Given the description of an element on the screen output the (x, y) to click on. 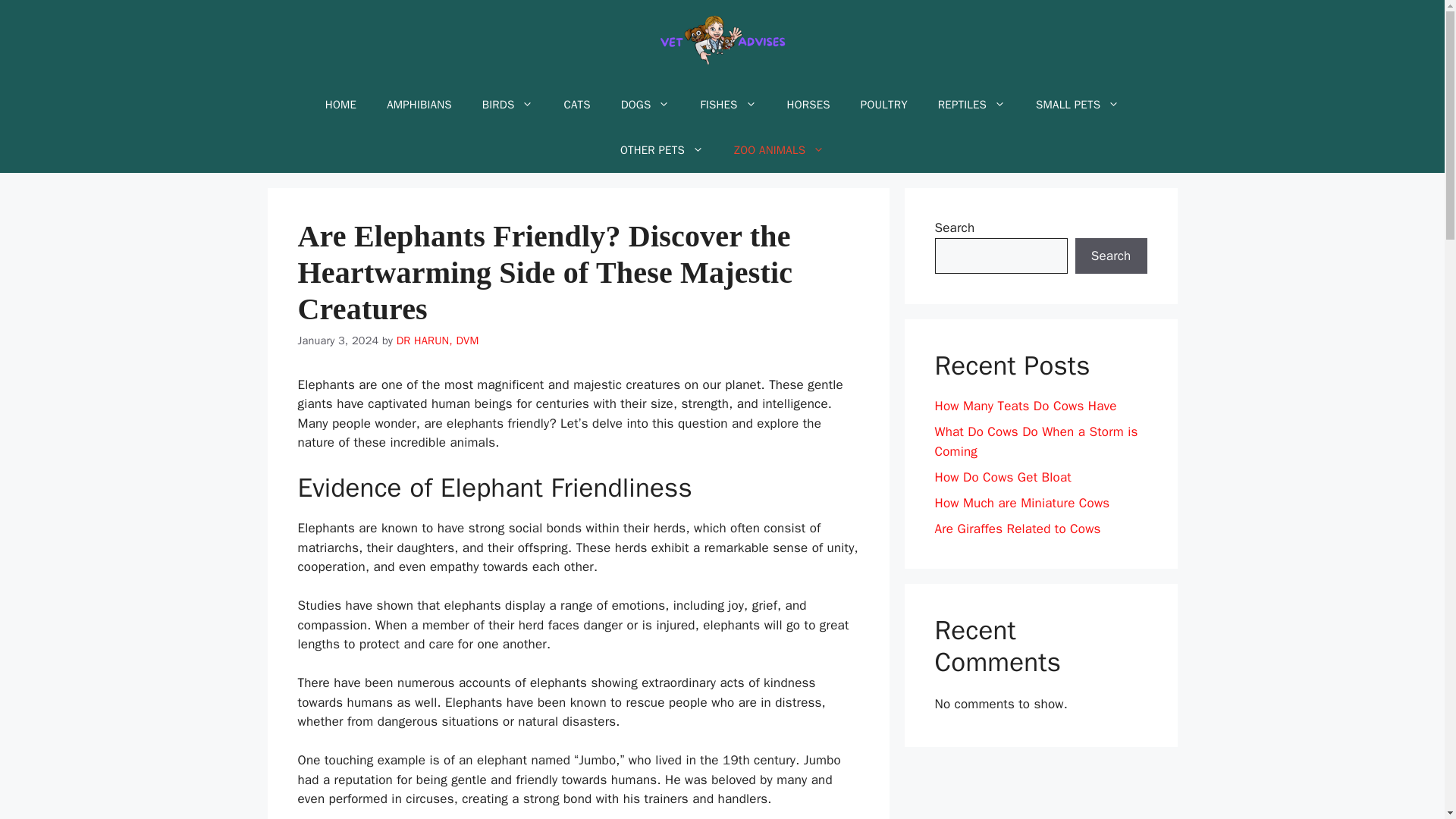
POULTRY (884, 104)
REPTILES (971, 104)
CATS (576, 104)
SMALL PETS (1077, 104)
OTHER PETS (662, 149)
BIRDS (507, 104)
View all posts by DR HARUN, DVM (437, 340)
HOME (340, 104)
DR HARUN, DVM (437, 340)
ZOO ANIMALS (779, 149)
DOGS (645, 104)
FISHES (727, 104)
HORSES (808, 104)
AMPHIBIANS (419, 104)
